Given the description of an element on the screen output the (x, y) to click on. 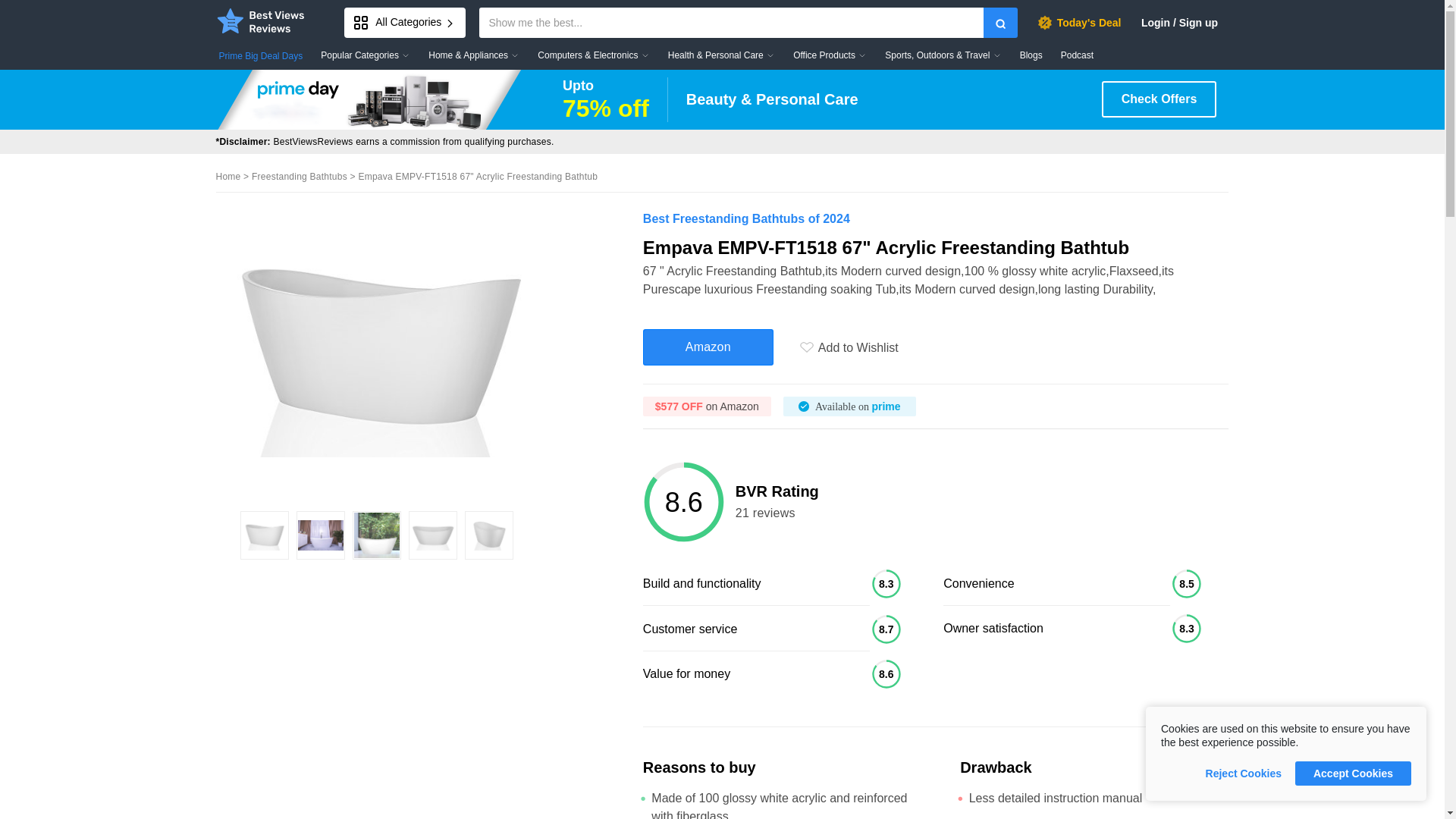
Today's Deal (1078, 22)
BVR logo (260, 20)
Today's Deal (1078, 22)
all categories (404, 22)
All Categories (404, 22)
Prime Big Deal Days (260, 55)
